Given the description of an element on the screen output the (x, y) to click on. 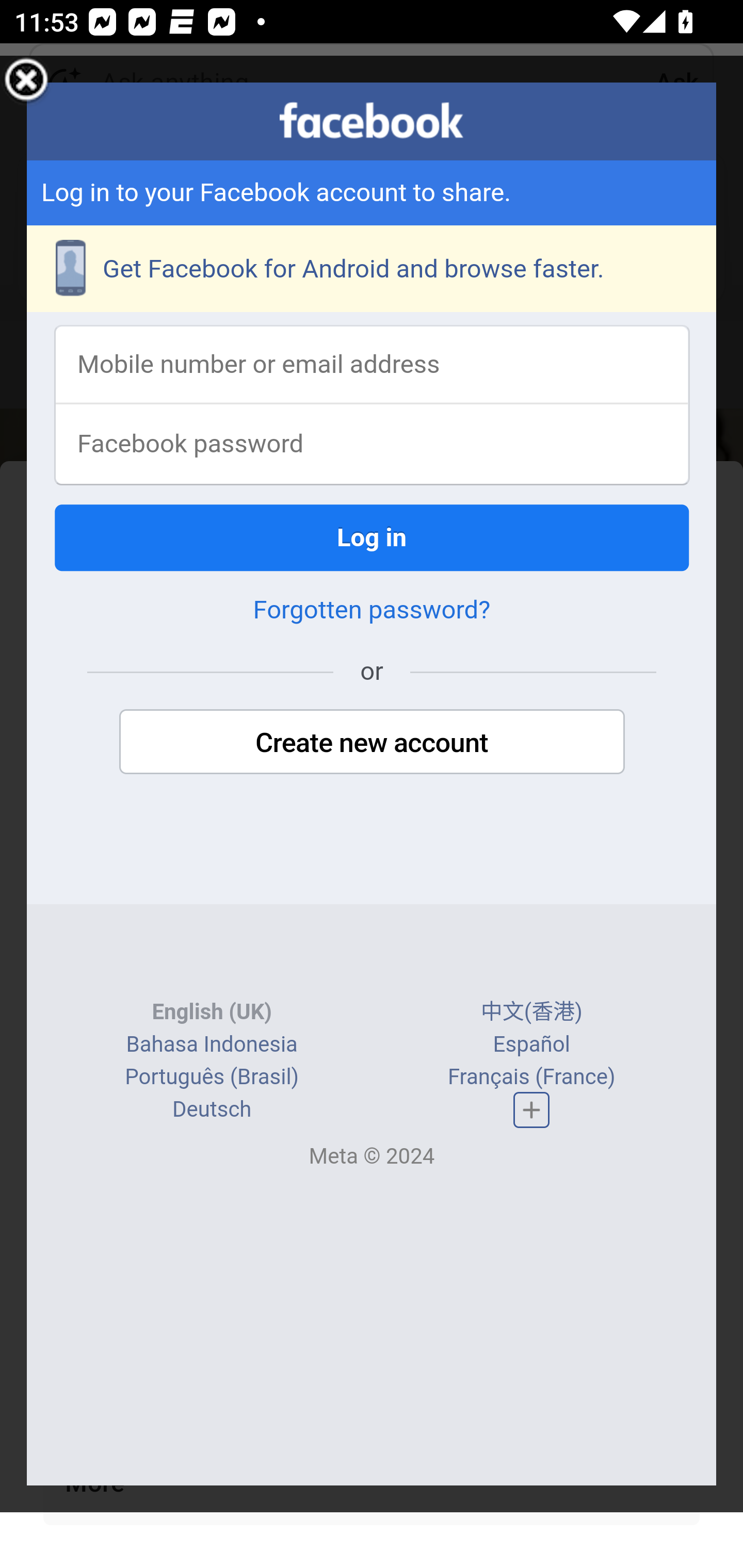
facebook (372, 121)
Get Facebook for Android and browse faster. (372, 270)
Log in (372, 538)
Forgotten password? (371, 611)
Create new account (371, 743)
中文(香港) (531, 1013)
Bahasa Indonesia (210, 1044)
Español (530, 1044)
Português (Brasil) (211, 1077)
Français (France) (530, 1077)
Complete list of languages (531, 1110)
Deutsch (211, 1110)
